Given the description of an element on the screen output the (x, y) to click on. 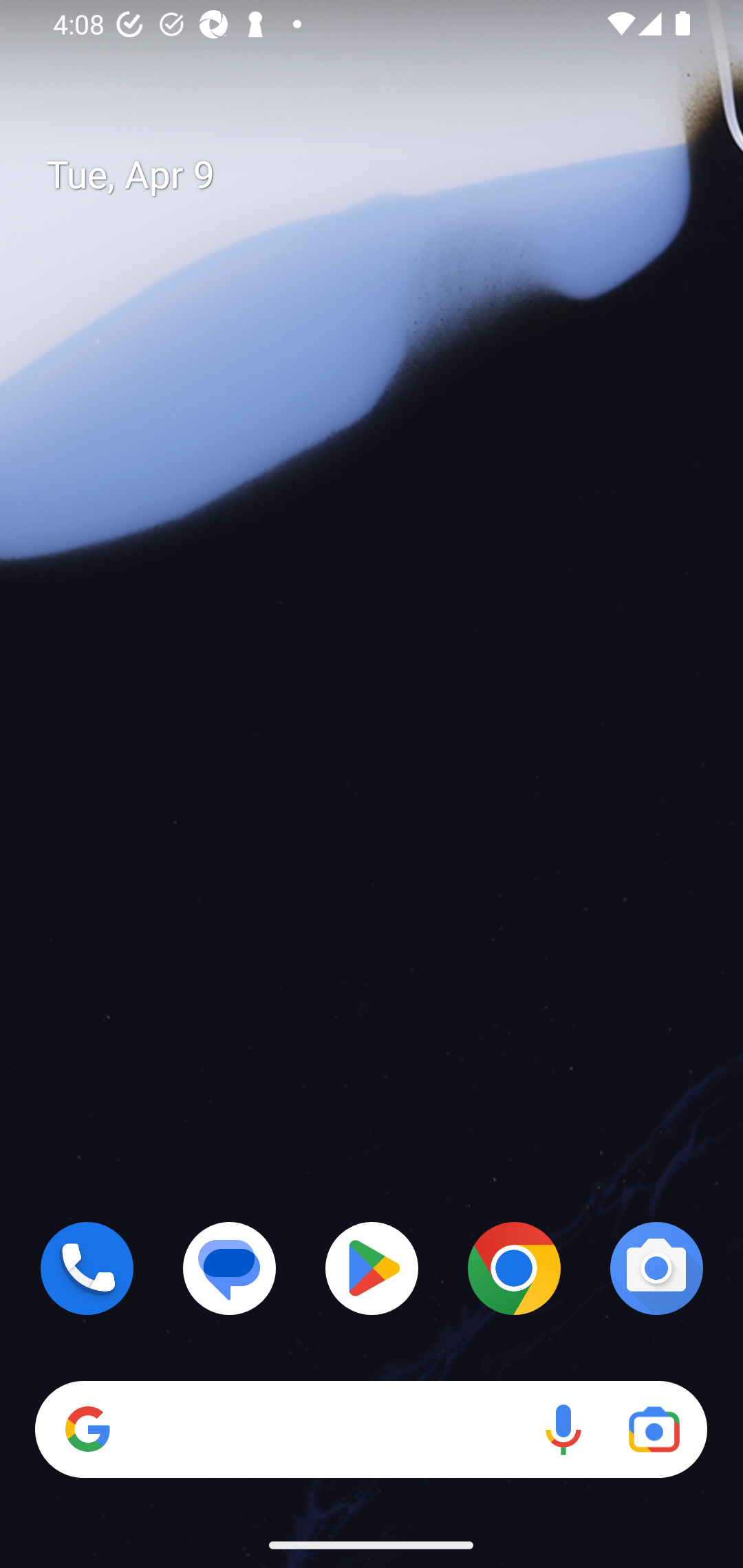
Tue, Apr 9 (386, 175)
Phone (86, 1268)
Messages (229, 1268)
Play Store (371, 1268)
Chrome (513, 1268)
Camera (656, 1268)
Voice search (562, 1429)
Google Lens (653, 1429)
